Given the description of an element on the screen output the (x, y) to click on. 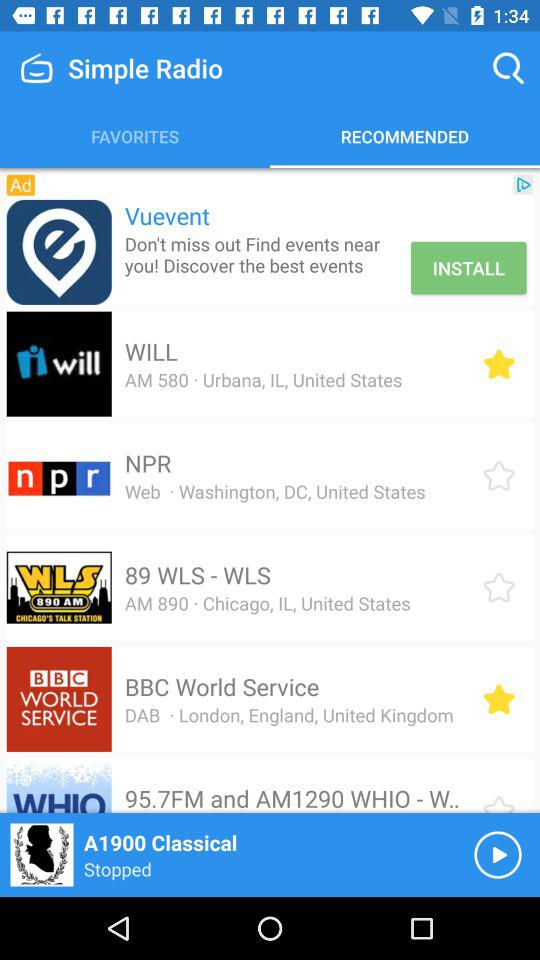
go to advertisement (58, 251)
